Given the description of an element on the screen output the (x, y) to click on. 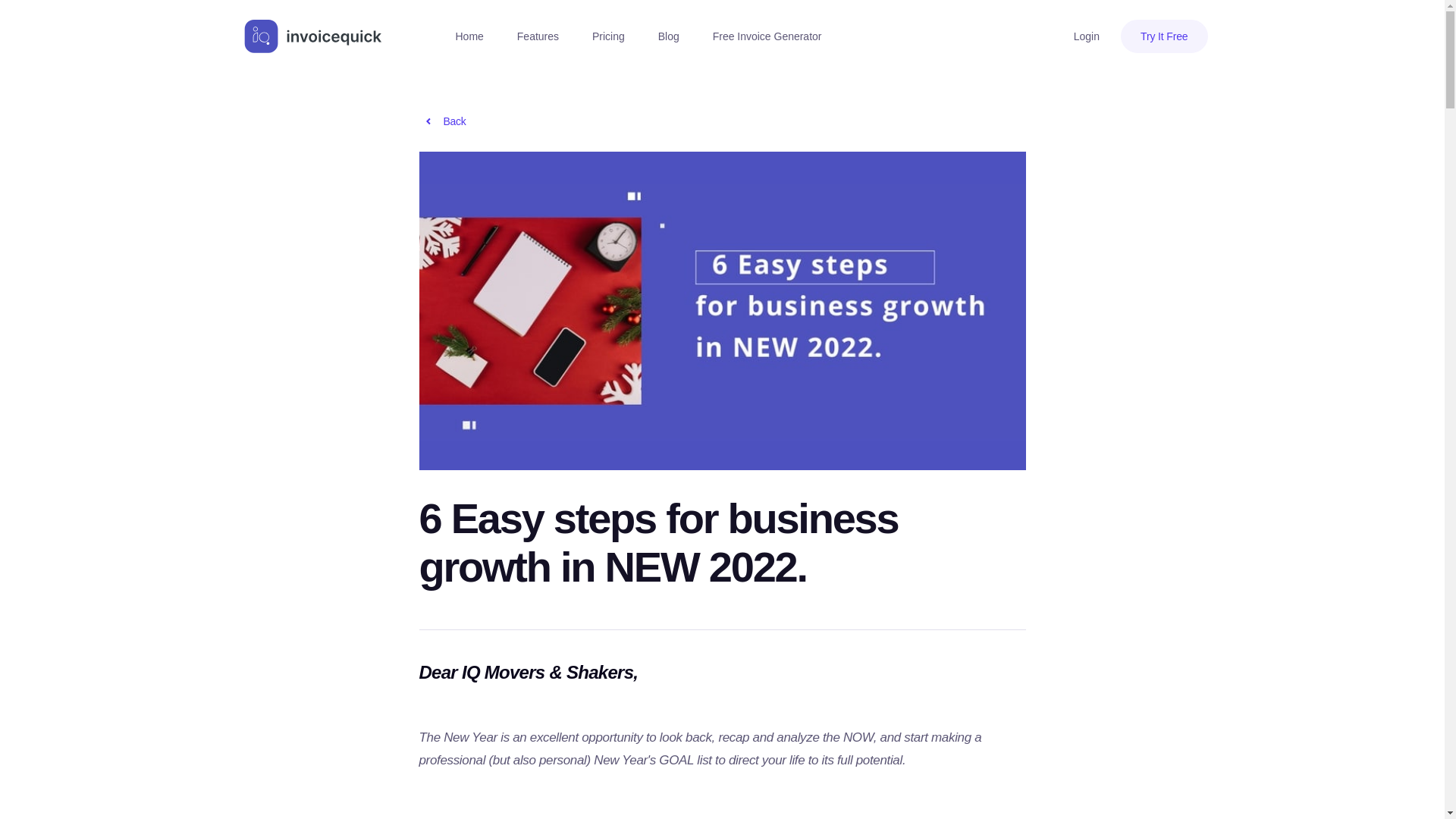
Login (1086, 36)
Try It Free (1164, 36)
Blog (668, 36)
Features (537, 36)
Pricing (608, 36)
Back (486, 120)
Free Invoice Generator (767, 36)
Home (468, 36)
